Given the description of an element on the screen output the (x, y) to click on. 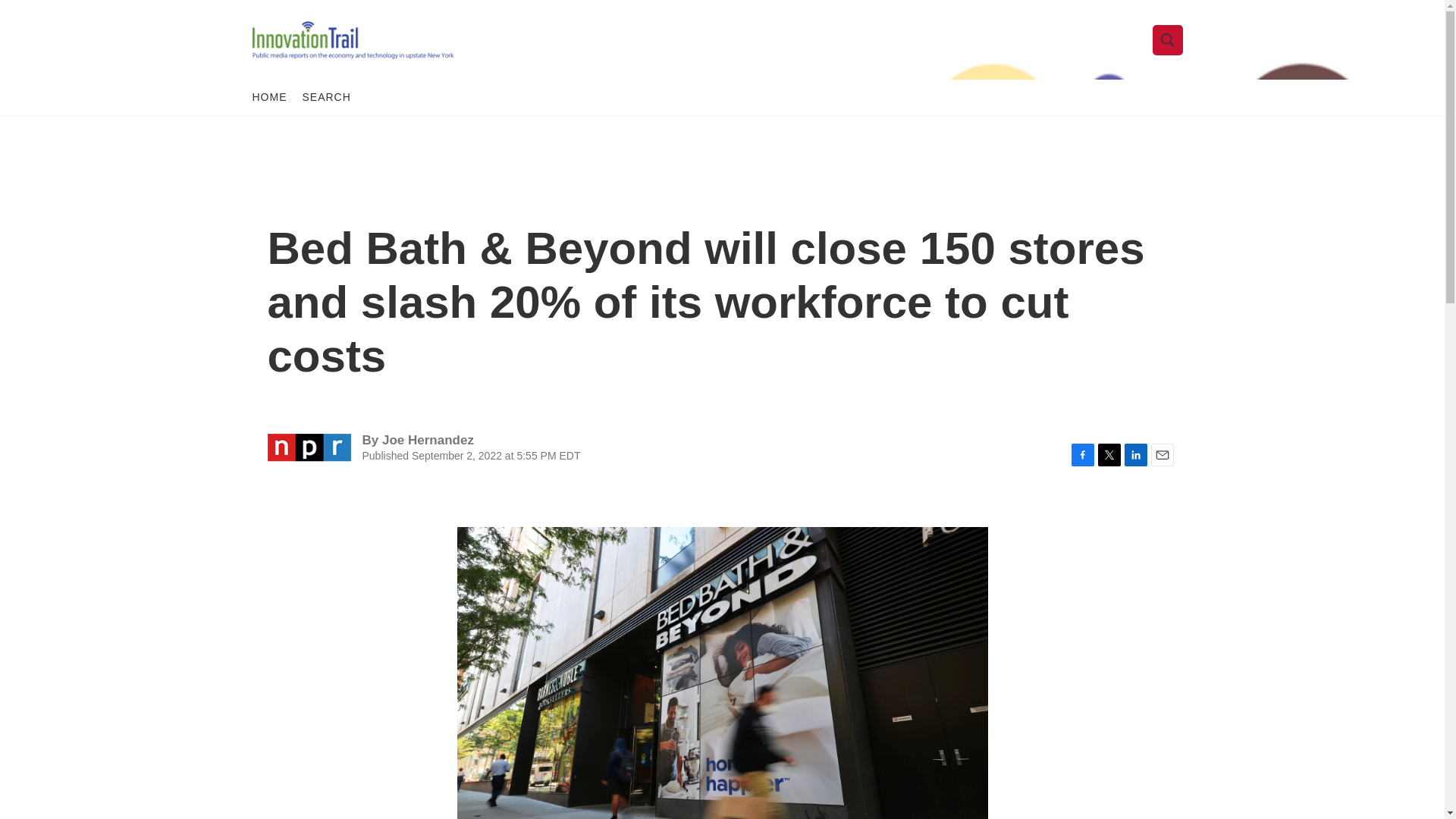
Show Search (1167, 39)
Email (1162, 454)
SEARCH (325, 97)
LinkedIn (1135, 454)
HOME (268, 97)
Facebook (1081, 454)
Twitter (1109, 454)
